Given the description of an element on the screen output the (x, y) to click on. 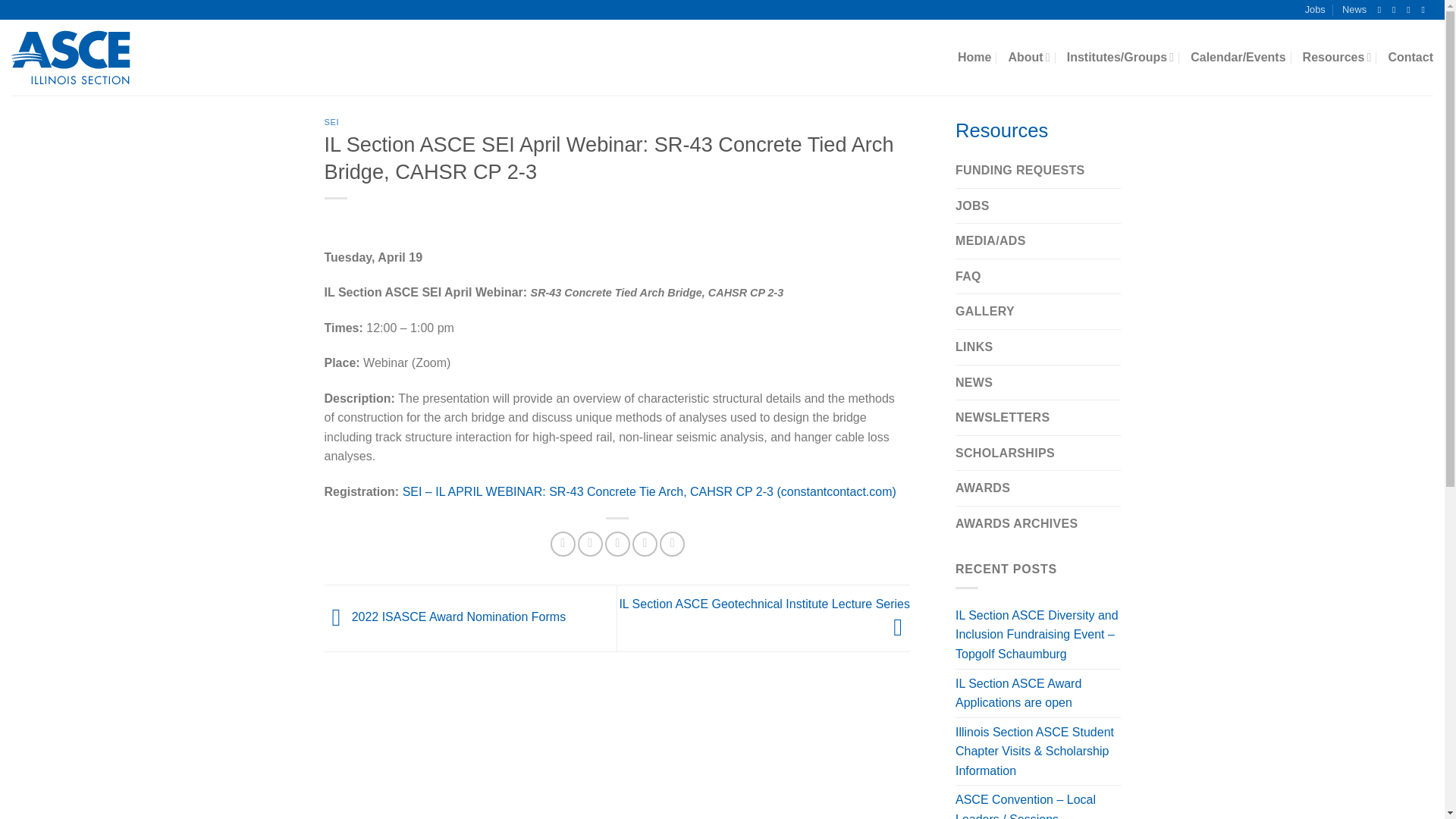
Share on LinkedIn (671, 543)
Pin on Pinterest (644, 543)
About (1028, 57)
Jobs (1314, 9)
Resources (1337, 57)
Share on Facebook (562, 543)
Home (974, 57)
Contact (1409, 57)
Email to a Friend (617, 543)
News (1354, 9)
Share on Twitter (590, 543)
